Given the description of an element on the screen output the (x, y) to click on. 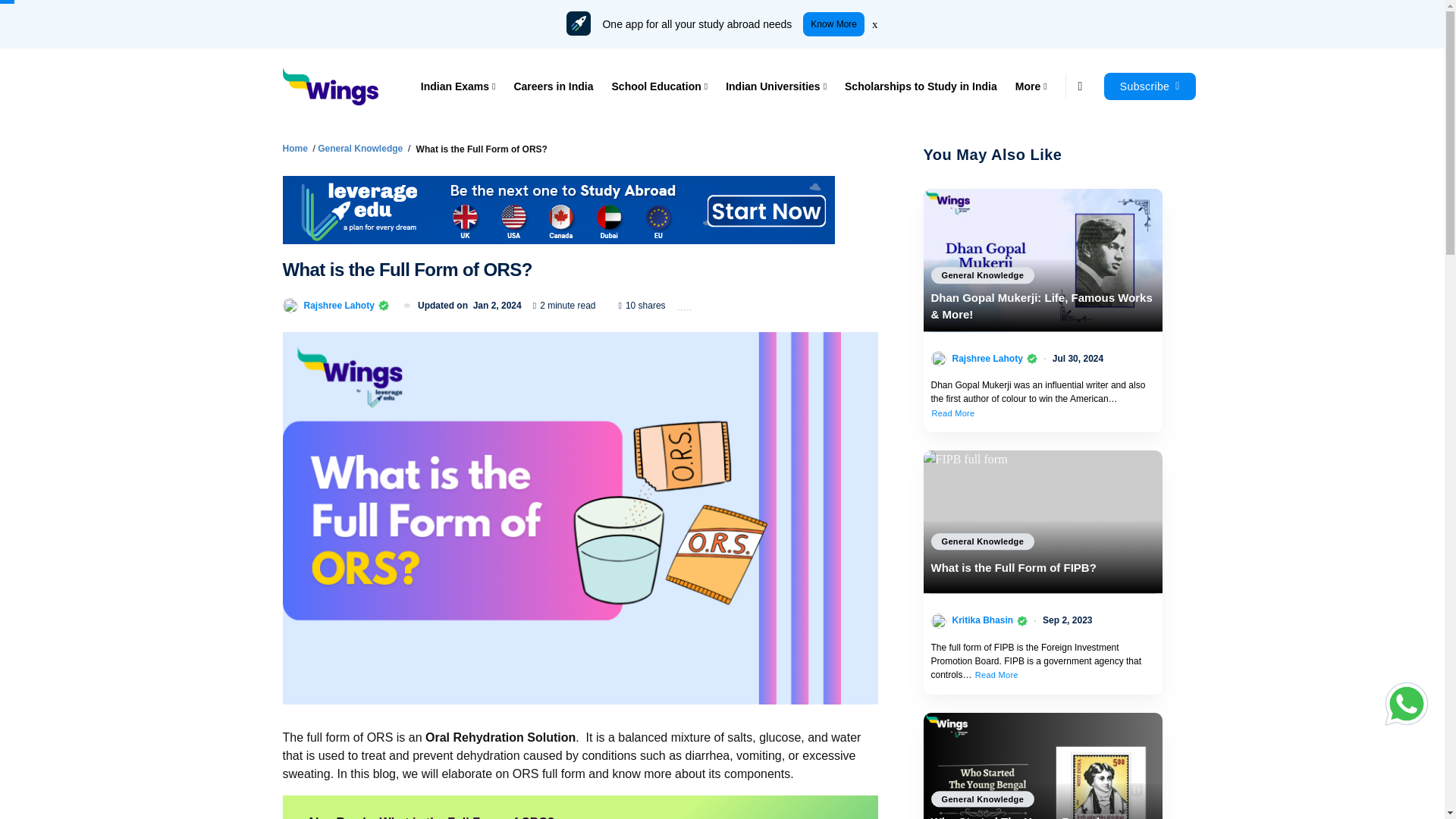
View all posts by Rajshree Lahoty (987, 358)
View all posts by Kritika Bhasin (982, 620)
View all posts by Rajshree Lahoty (338, 305)
